Given the description of an element on the screen output the (x, y) to click on. 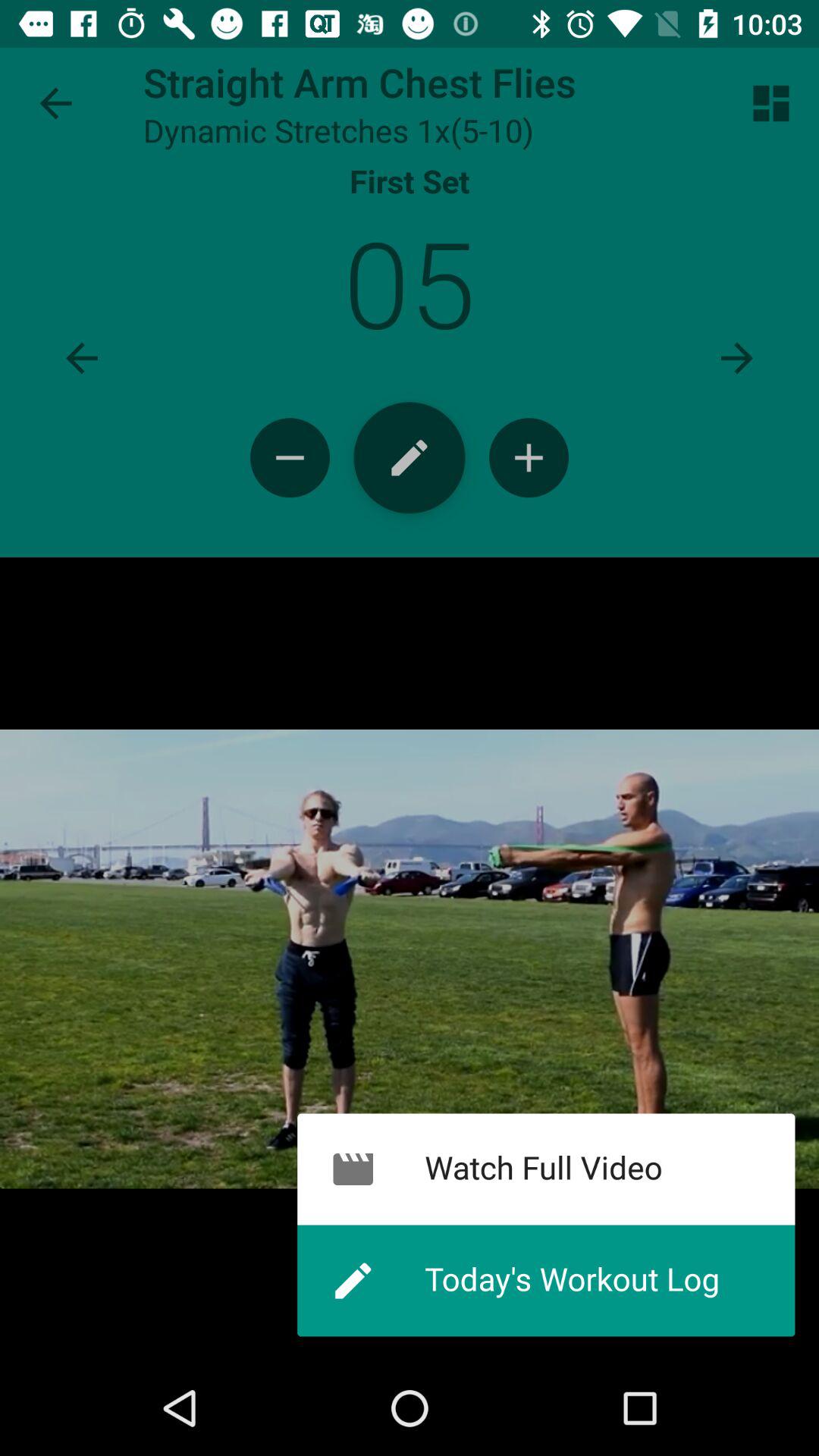
next (737, 358)
